Given the description of an element on the screen output the (x, y) to click on. 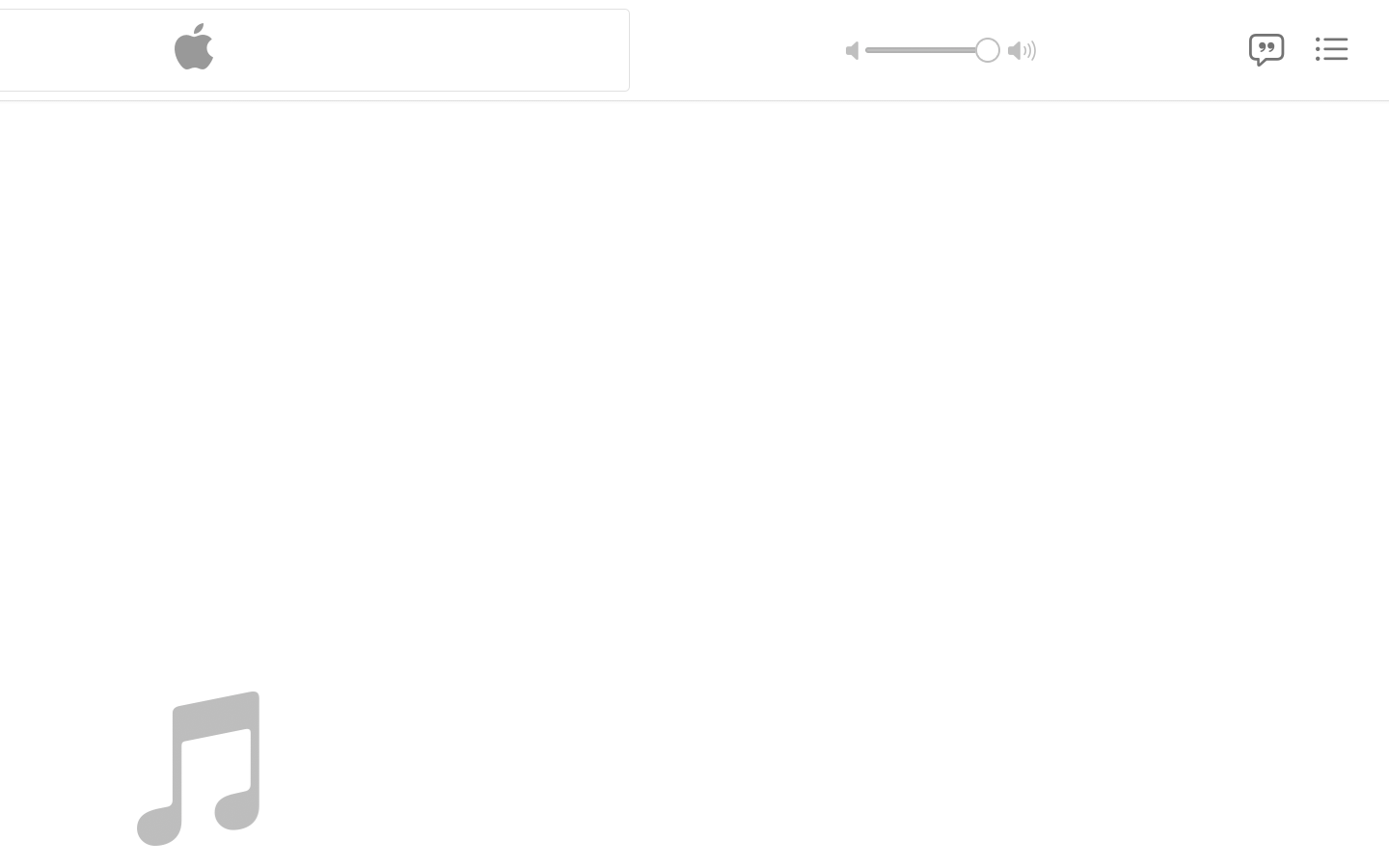
1.0 Element type: AXSlider (931, 48)
